Given the description of an element on the screen output the (x, y) to click on. 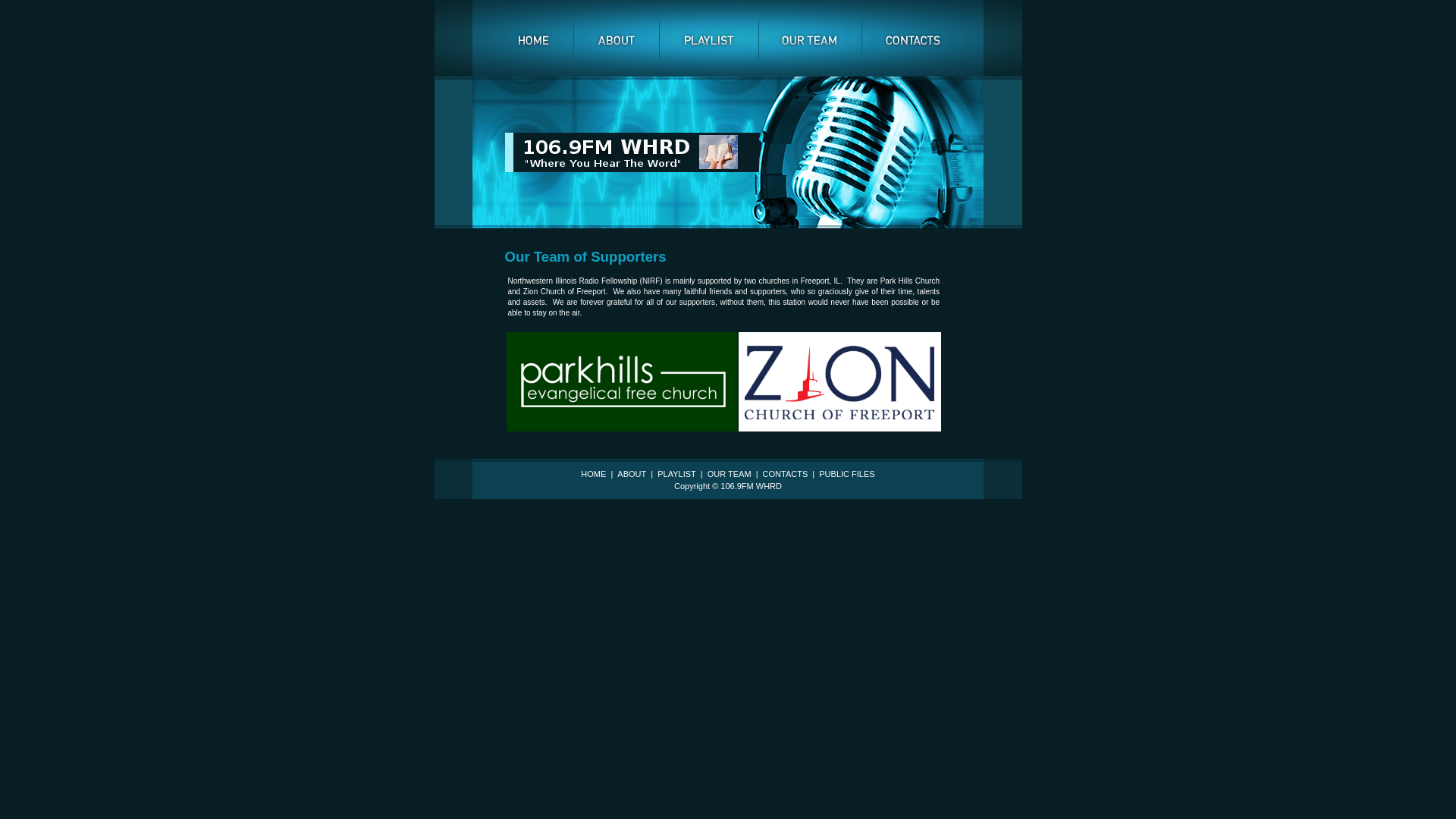
HOME Element type: text (594, 473)
home Element type: text (533, 39)
PLAYLIST Element type: text (676, 473)
about Element type: text (616, 39)
ABOUT Element type: text (631, 473)
CONTACTS Element type: text (785, 473)
OUR TEAM Element type: text (729, 473)
PUBLIC FILES Element type: text (846, 473)
our team Element type: text (810, 39)
contacts Element type: text (913, 39)
playlist Element type: text (708, 39)
